Given the description of an element on the screen output the (x, y) to click on. 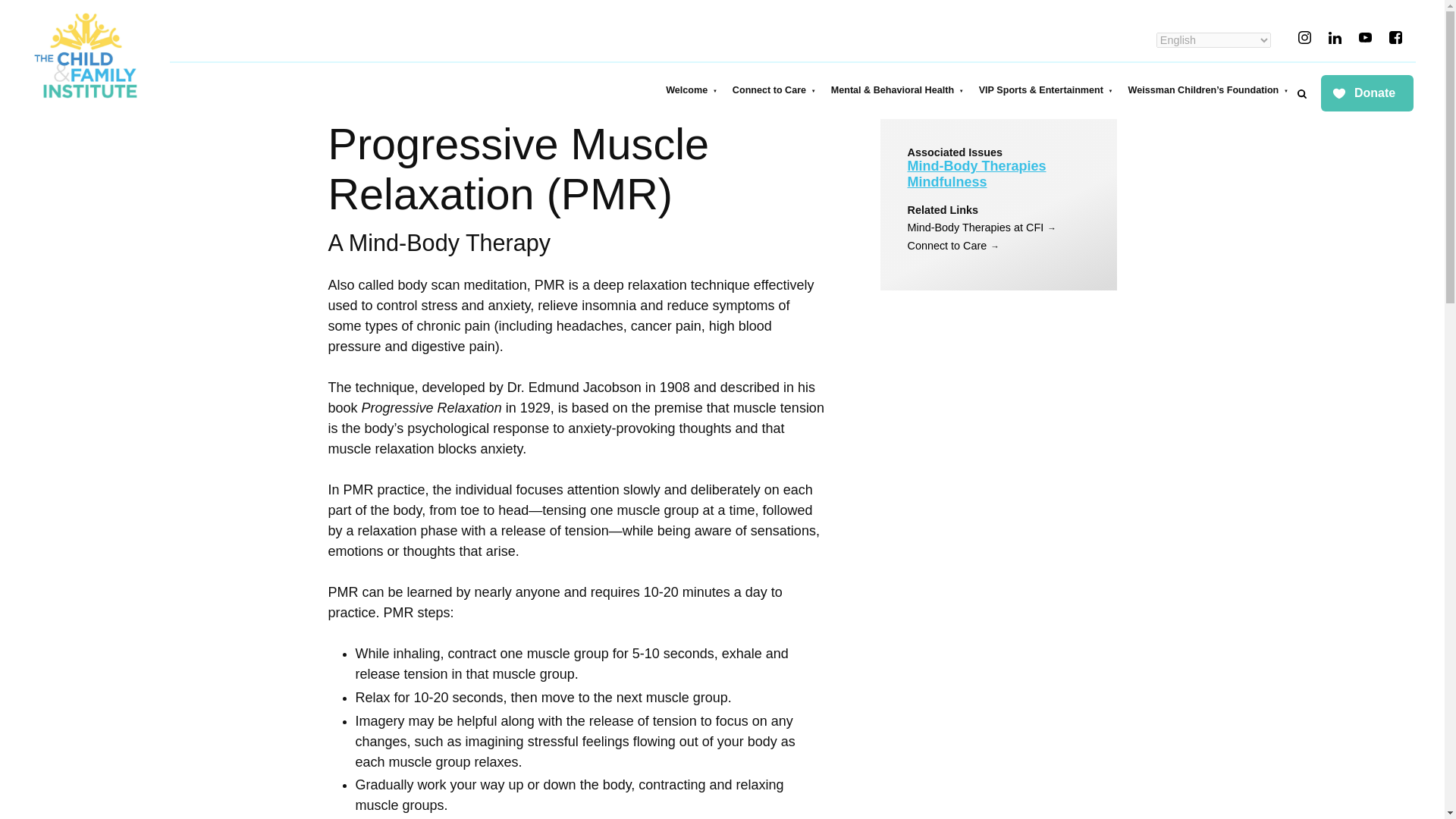
See Child and Family Institute on Linkedin (1333, 37)
See other items in Mind-Body Therapies Associated Issues (976, 165)
See Child and Family Institute on Instagram (1304, 37)
Welcome (691, 89)
Donate Button (1366, 93)
See Child and Family Institute on Facebook (1395, 37)
Connect to Care (774, 89)
See other items in Mindfulness Associated Issues (947, 181)
See Child and Family Institute on Youtube (1364, 37)
